Given the description of an element on the screen output the (x, y) to click on. 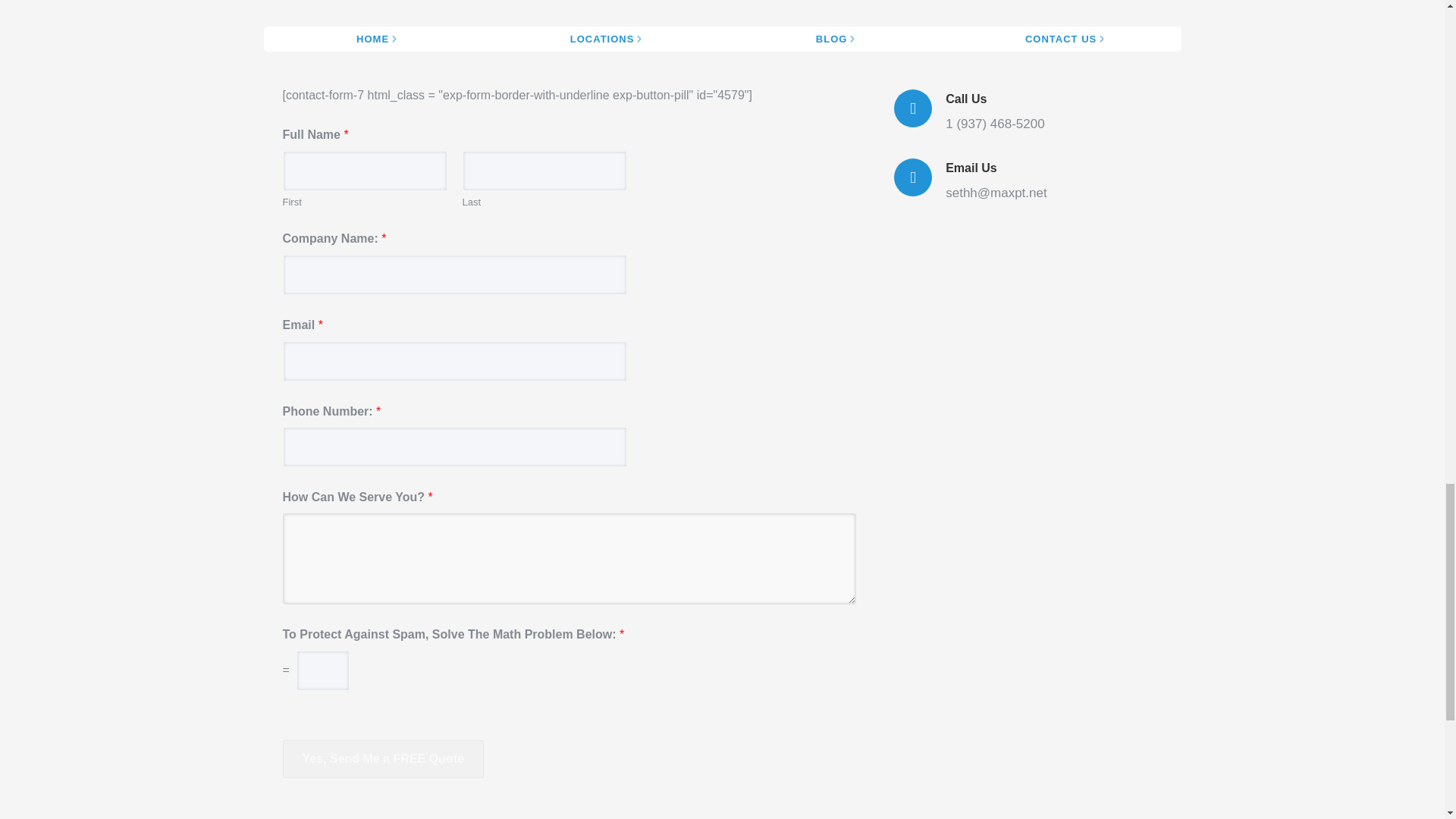
BLOG (837, 39)
HOME (377, 39)
LOCATIONS (607, 39)
Yes, Send Me a FREE Quote (382, 759)
Email Us (970, 167)
CONTACT US (1066, 39)
